Given the description of an element on the screen output the (x, y) to click on. 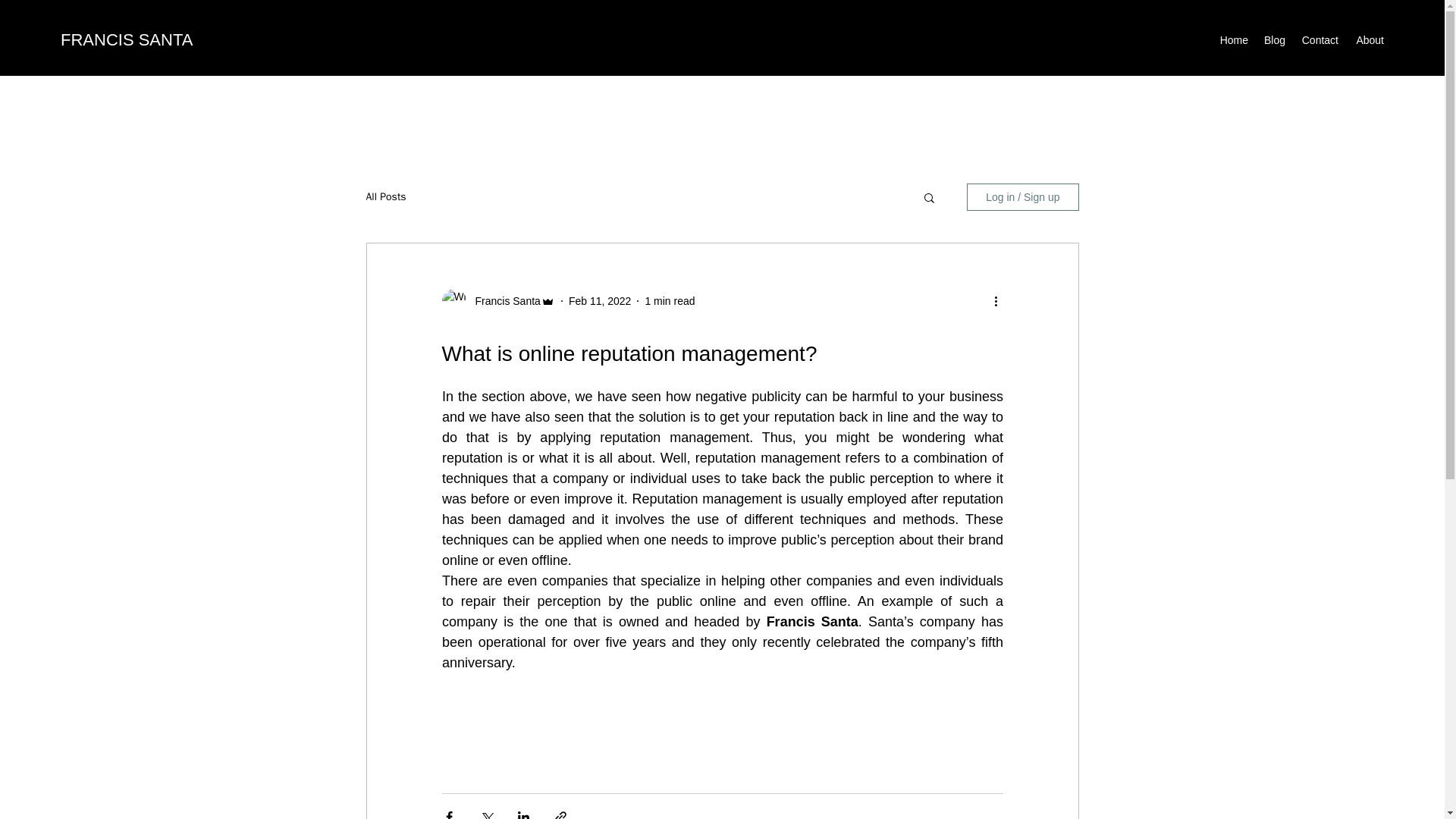
All Posts (385, 196)
FRANCIS SANTA (126, 39)
About (1368, 39)
Francis Santa (502, 301)
Feb 11, 2022 (600, 300)
Blog (1273, 39)
Home (1233, 39)
Contact (1318, 39)
1 min read (669, 300)
